Given the description of an element on the screen output the (x, y) to click on. 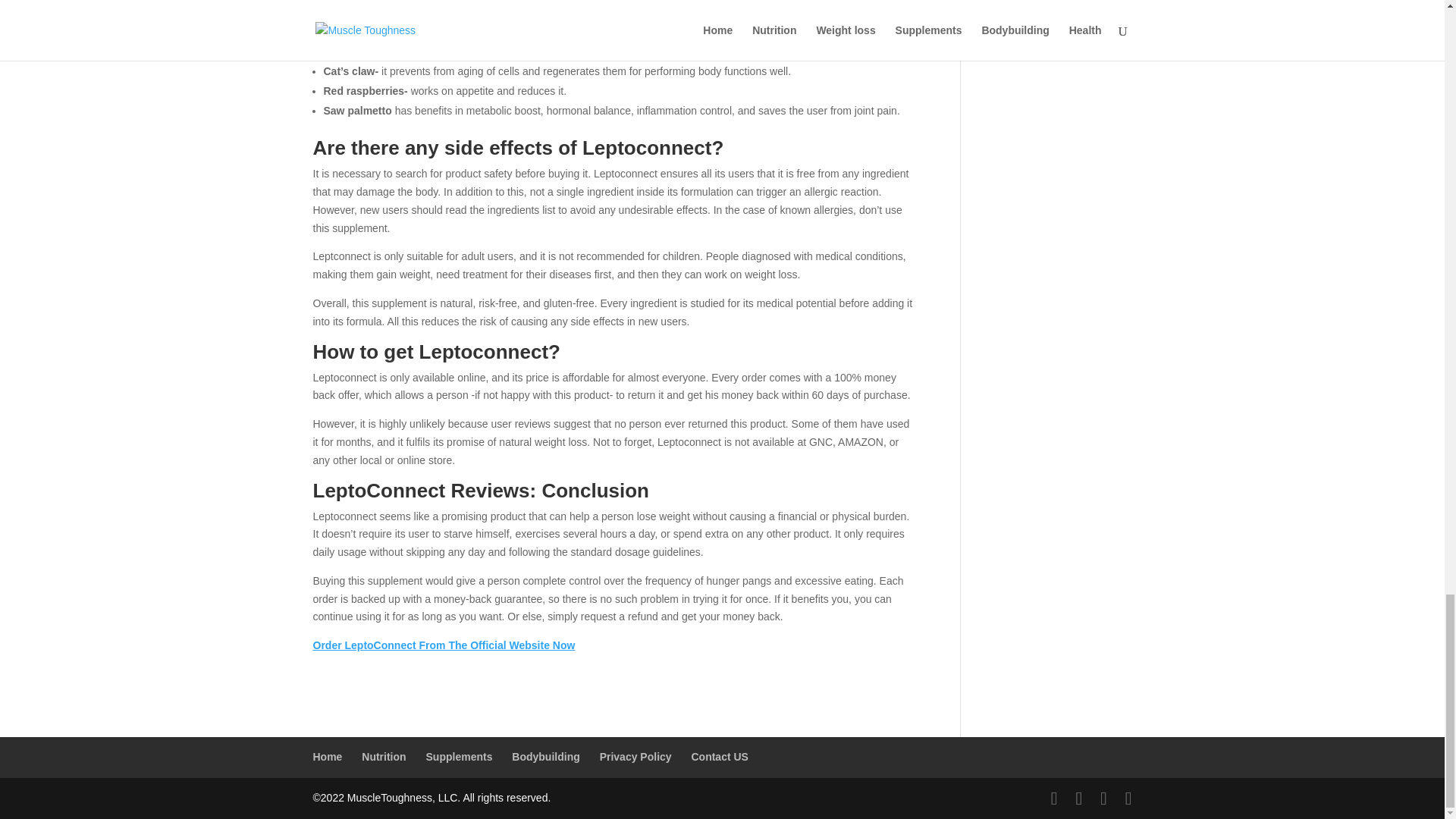
Home (327, 756)
Order LeptoConnect From The Official Website Now (444, 645)
Privacy Policy (635, 756)
Supplements (459, 756)
Bodybuilding (545, 756)
Nutrition (383, 756)
